Given the description of an element on the screen output the (x, y) to click on. 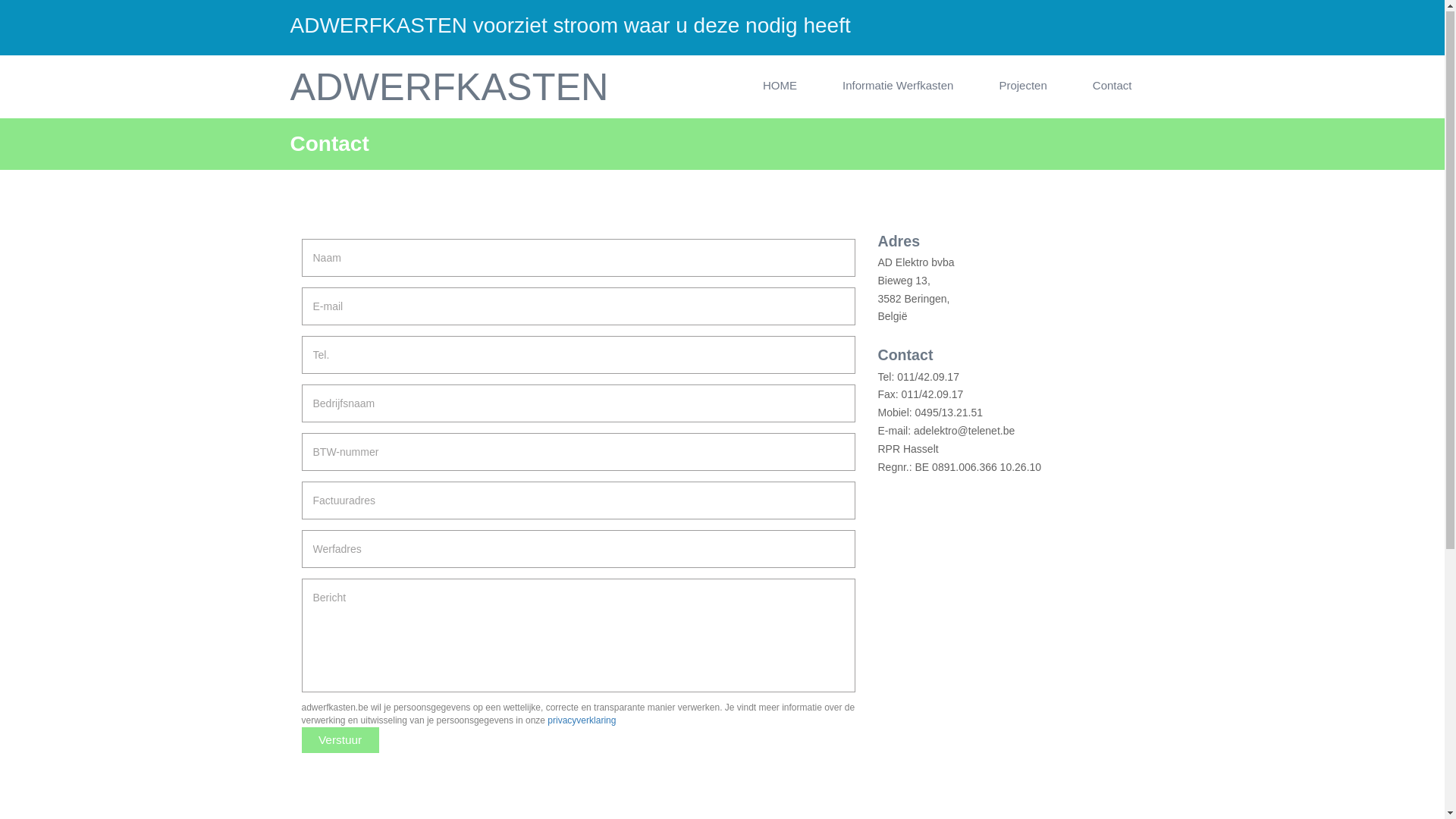
ADWERFKASTEN Element type: text (448, 87)
Projecten Element type: text (1022, 86)
HOME Element type: text (779, 86)
adelektro@telenet.be Element type: text (962, 431)
privacyverklaring Element type: text (581, 720)
Verstuur Element type: text (340, 740)
Contact Element type: text (1112, 86)
Informatie Werfkasten Element type: text (897, 86)
